Given the description of an element on the screen output the (x, y) to click on. 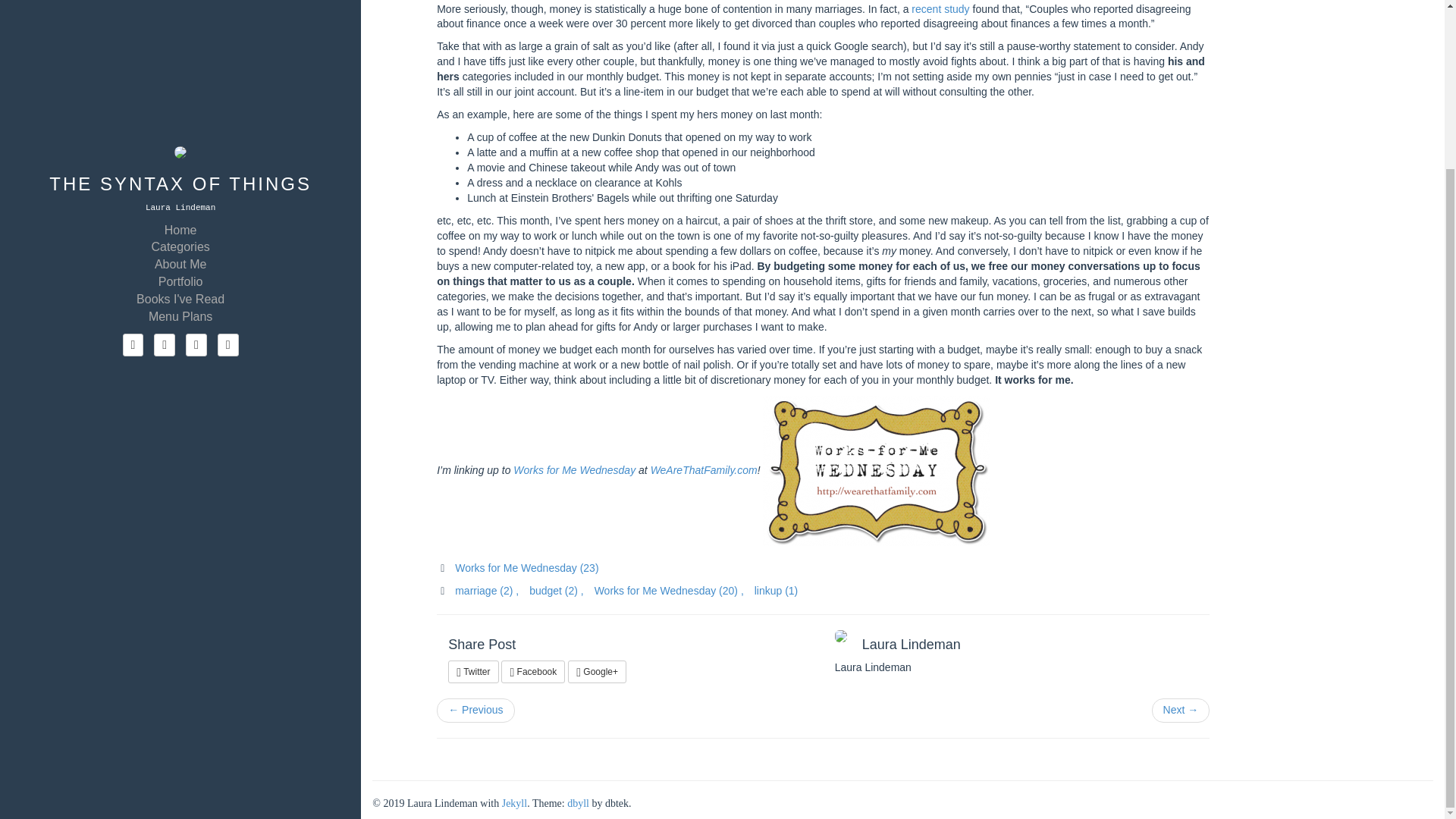
Twitter (472, 671)
Home (180, 26)
recent study (940, 8)
Portfolio (180, 78)
Works for Me Wednesday (573, 469)
Books I've Read (180, 96)
Singing of His Mercy (474, 710)
Menu Plans (180, 113)
Banishing Clutter (1180, 710)
Categories (180, 43)
About Me (180, 60)
dbyll (578, 803)
Facebook (532, 671)
Jekyll (514, 803)
WeAreThatFamily.com (703, 469)
